Given the description of an element on the screen output the (x, y) to click on. 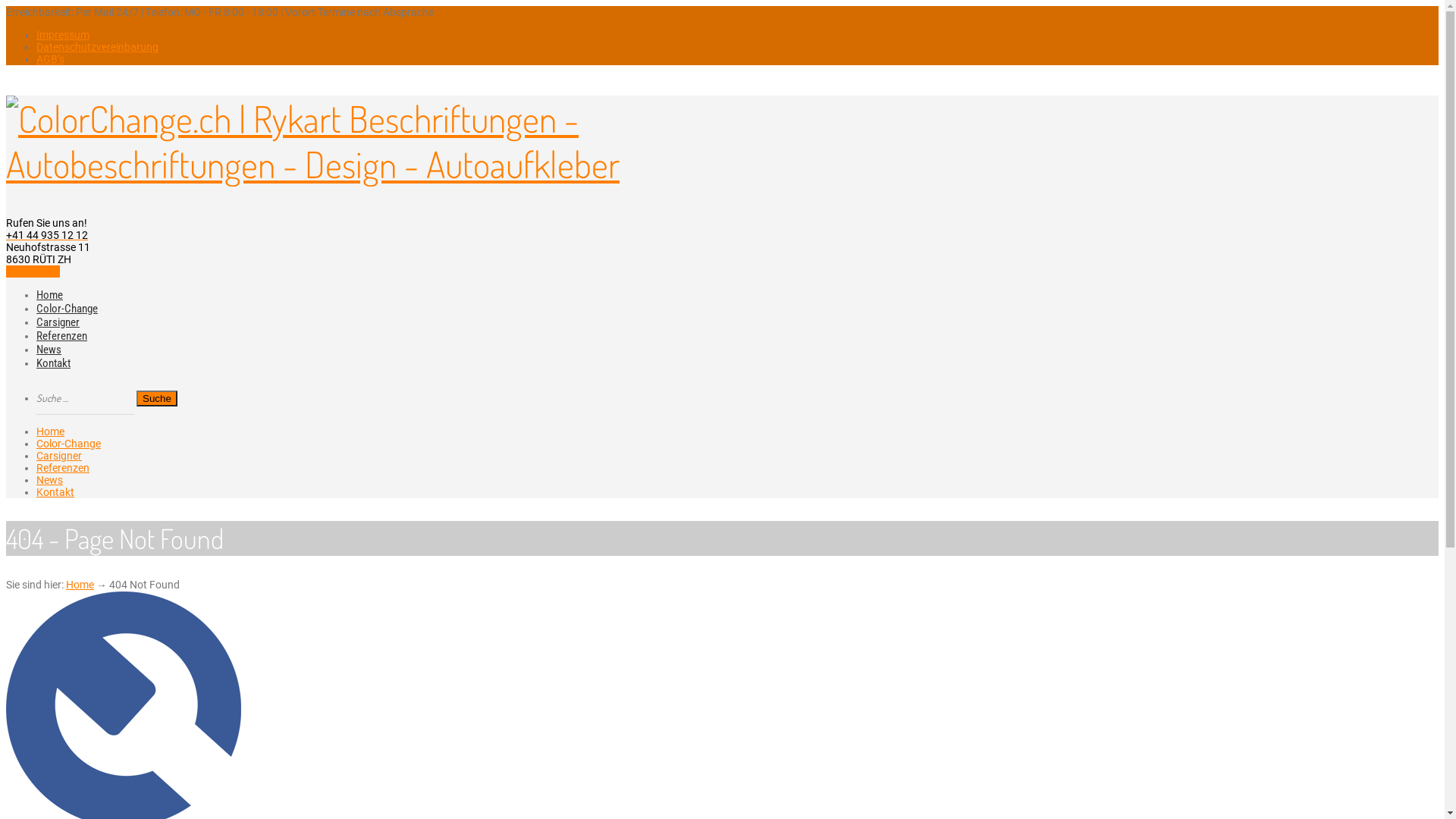
Color-Change Element type: text (66, 308)
Home Element type: text (49, 294)
Home Element type: text (79, 584)
Home Element type: text (50, 431)
Carsigner Element type: text (58, 455)
News Element type: text (49, 479)
Carsigner Element type: text (57, 322)
Kontakt Element type: text (53, 363)
WeTransfer Element type: text (32, 271)
Color-Change Element type: text (68, 443)
Impressum Element type: text (62, 34)
Referenzen Element type: text (62, 467)
News Element type: text (48, 349)
+41 44 935 12 12 Element type: text (46, 235)
Datenschutzvereinbarung Element type: text (97, 46)
Kontakt Element type: text (55, 492)
Suche Element type: text (156, 397)
Referenzen Element type: text (61, 335)
